Given the description of an element on the screen output the (x, y) to click on. 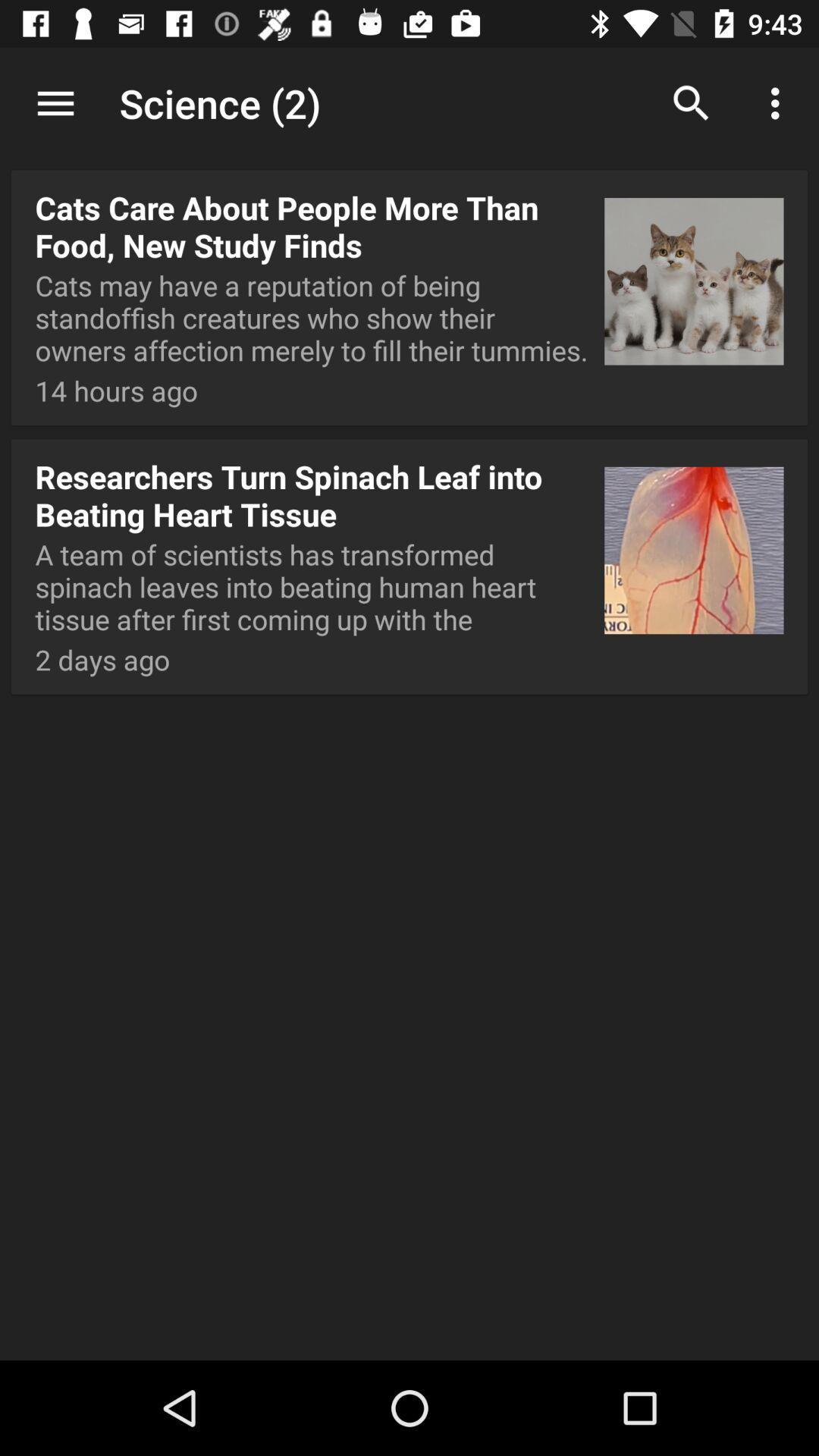
open the icon to the left of science (2) app (55, 103)
